Given the description of an element on the screen output the (x, y) to click on. 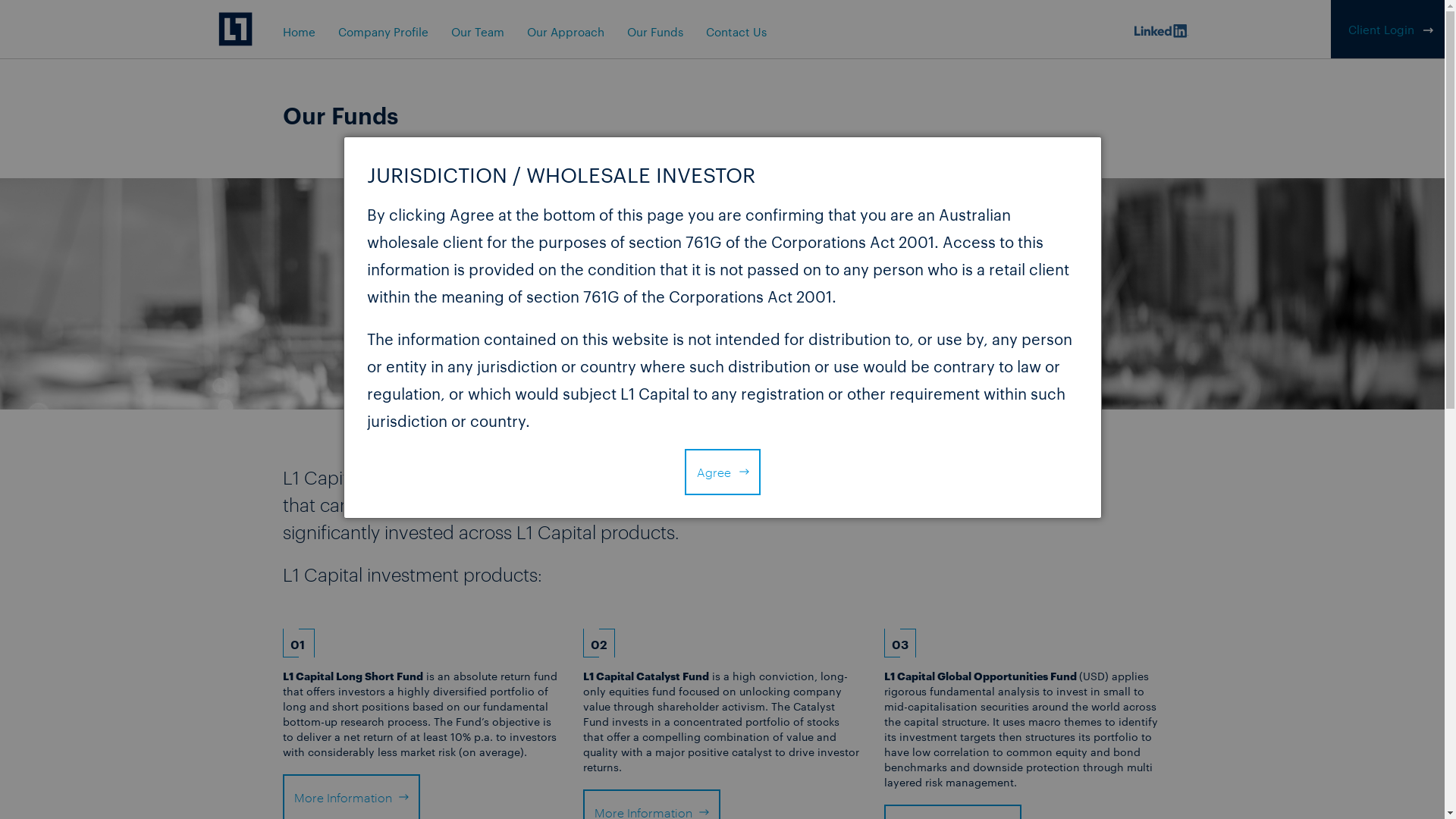
Our Funds Element type: text (654, 31)
Our Approach Element type: text (564, 31)
Client Login Element type: text (1381, 19)
Contact Us Element type: text (735, 31)
Agree Element type: text (721, 471)
Company Profile Element type: text (383, 31)
Home Element type: text (298, 31)
Our Team Element type: text (476, 31)
